Given the description of an element on the screen output the (x, y) to click on. 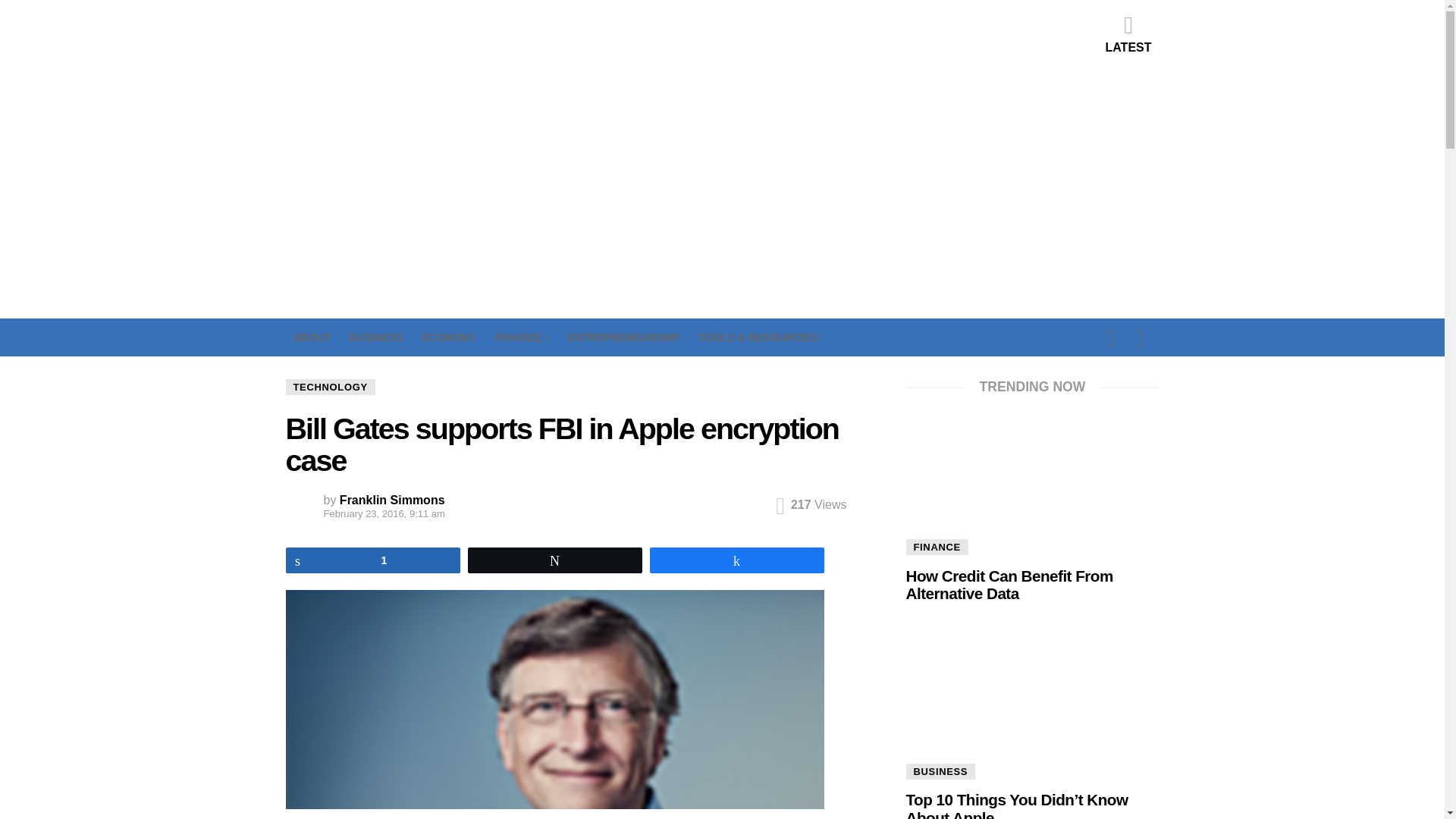
ENTREPRENEURSHIP (623, 337)
ECONOMY (449, 337)
Posts by Franklin Simmons (392, 499)
ABOUT (311, 337)
1 (373, 558)
LATEST (1127, 32)
BUSINESS (376, 337)
TECHNOLOGY (329, 386)
Search (1027, 429)
FINANCE (521, 337)
